Given the description of an element on the screen output the (x, y) to click on. 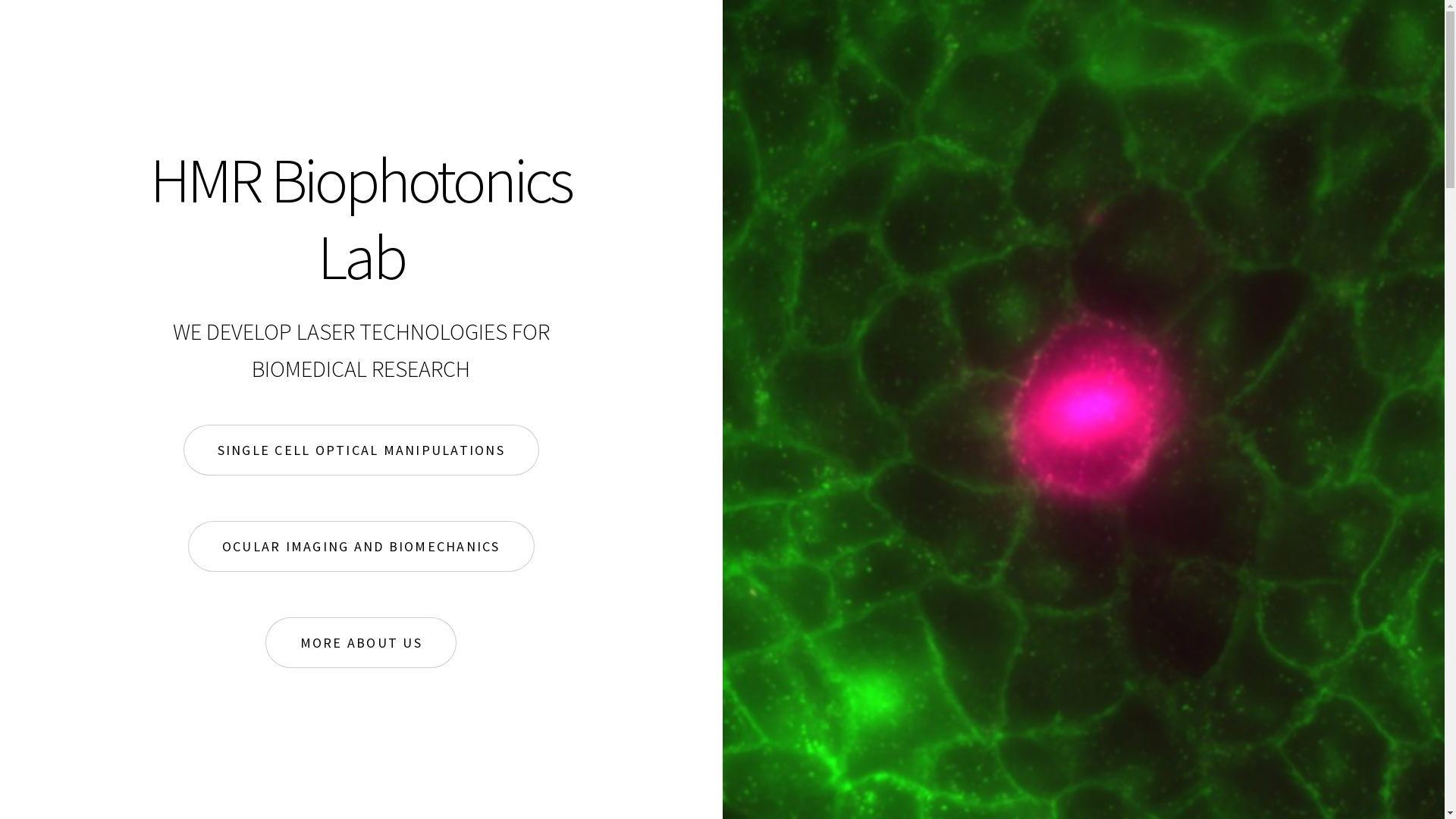
SINGLE CELL OPTICAL MANIPULATIONS Element type: text (361, 450)
OCULAR IMAGING AND BIOMECHANICS Element type: text (361, 546)
MORE ABOUT US Element type: text (360, 642)
